Given the description of an element on the screen output the (x, y) to click on. 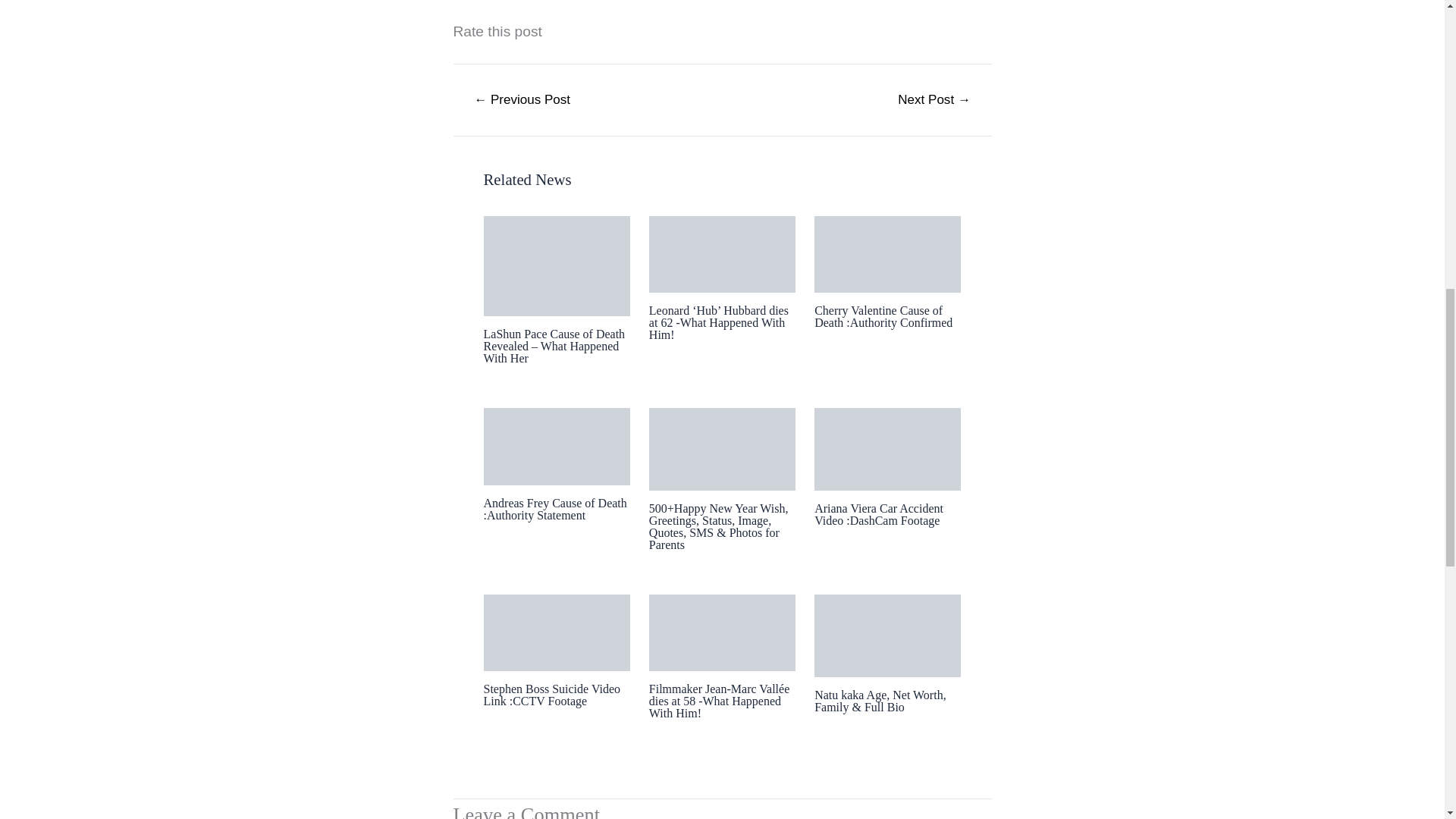
Stephen Boss Suicide Video Link :CCTV Footage (552, 694)
Ariana Viera Car Accident Video :DashCam Footage (878, 514)
Eden Knight Suicide:Emotional Video Message Before Death (521, 99)
Andreas Frey Cause of Death :Authority Statement (555, 508)
Cherry Valentine Cause of Death :Authority Confirmed (882, 316)
